Given the description of an element on the screen output the (x, y) to click on. 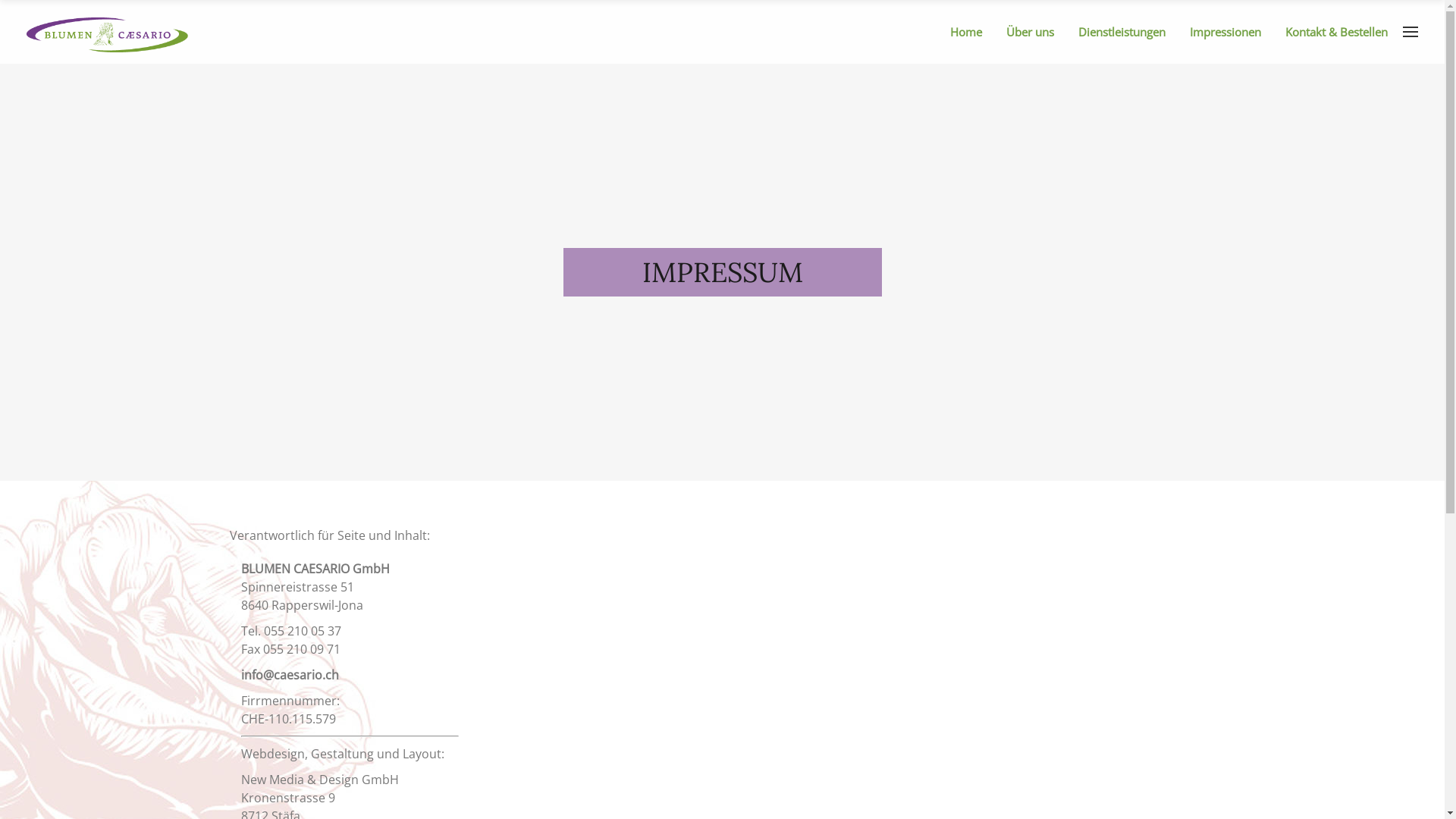
Kontakt & Bestellen Element type: text (1342, 31)
Impressionen Element type: text (1231, 31)
Home Element type: text (972, 31)
Dienstleistungen Element type: text (1127, 31)
